Given the description of an element on the screen output the (x, y) to click on. 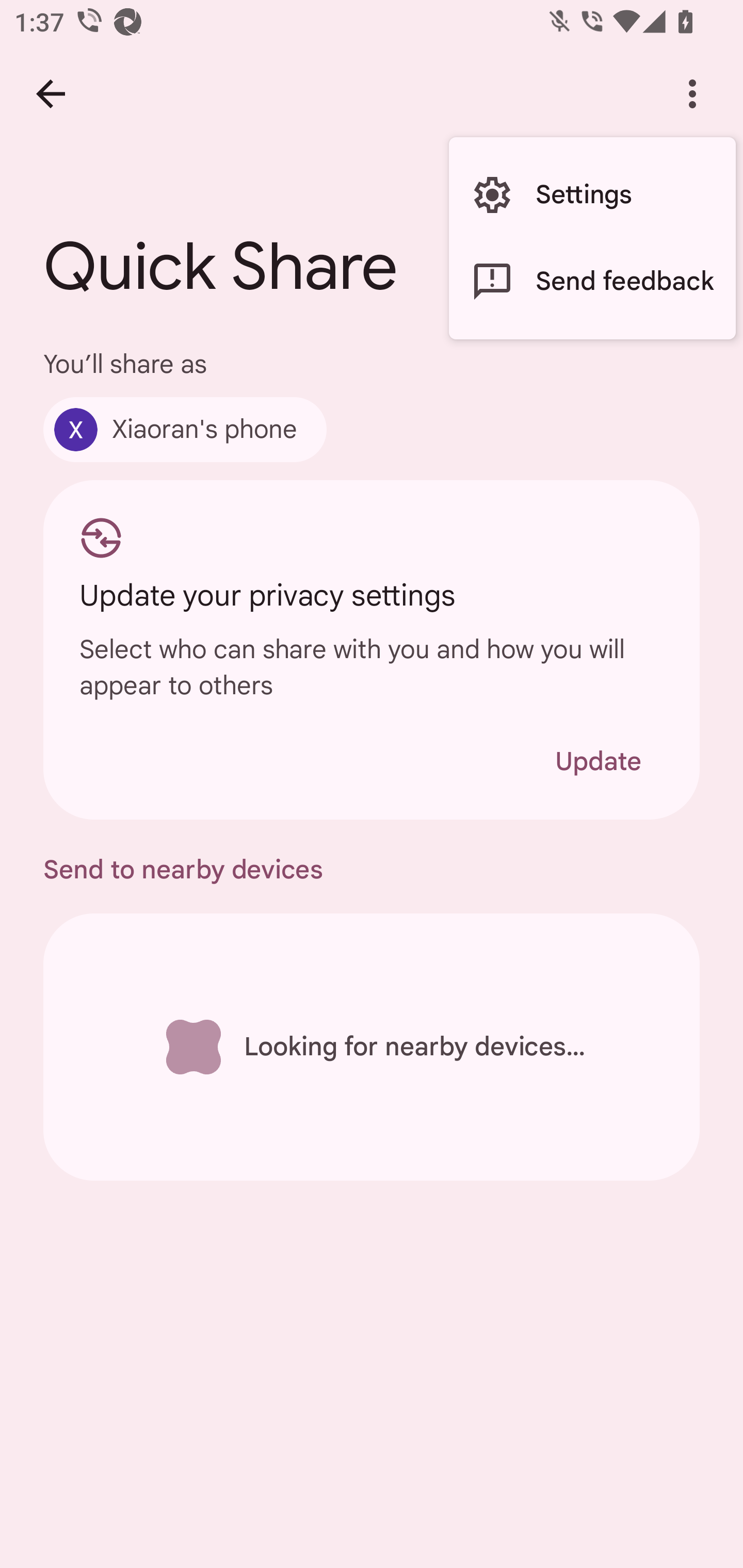
Settings (591, 195)
Send feedback (591, 281)
